Given the description of an element on the screen output the (x, y) to click on. 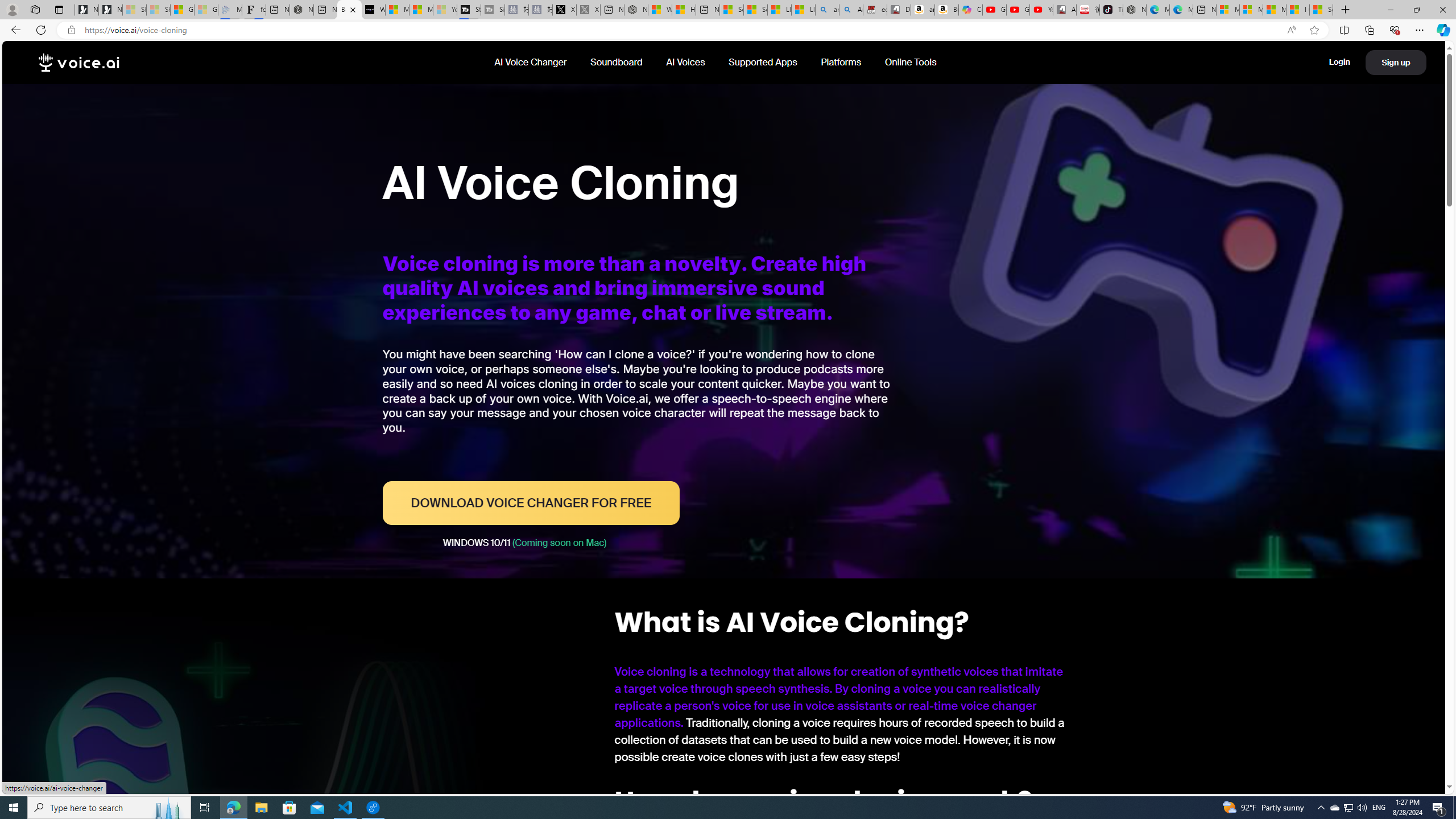
TikTok (1111, 9)
Login (1339, 61)
Amazon Echo Dot PNG - Search Images (850, 9)
